Given the description of an element on the screen output the (x, y) to click on. 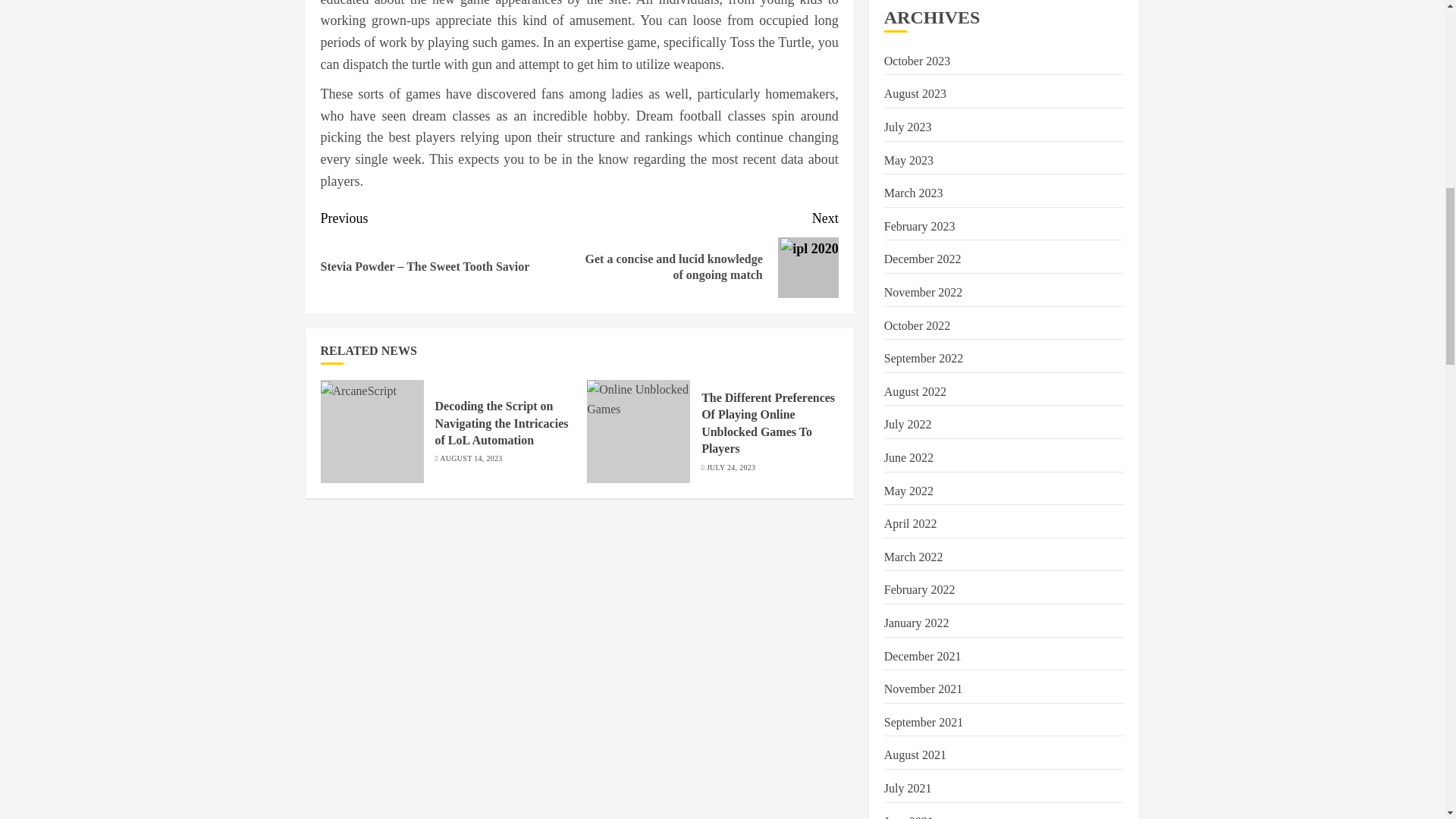
JULY 24, 2023 (730, 467)
December 2022 (921, 259)
July 2023 (907, 127)
September 2022 (922, 358)
February 2023 (919, 226)
May 2023 (908, 160)
AUGUST 14, 2023 (470, 458)
October 2022 (916, 325)
March 2023 (913, 192)
November 2022 (922, 292)
October 2023 (916, 60)
August 2023 (914, 93)
